Given the description of an element on the screen output the (x, y) to click on. 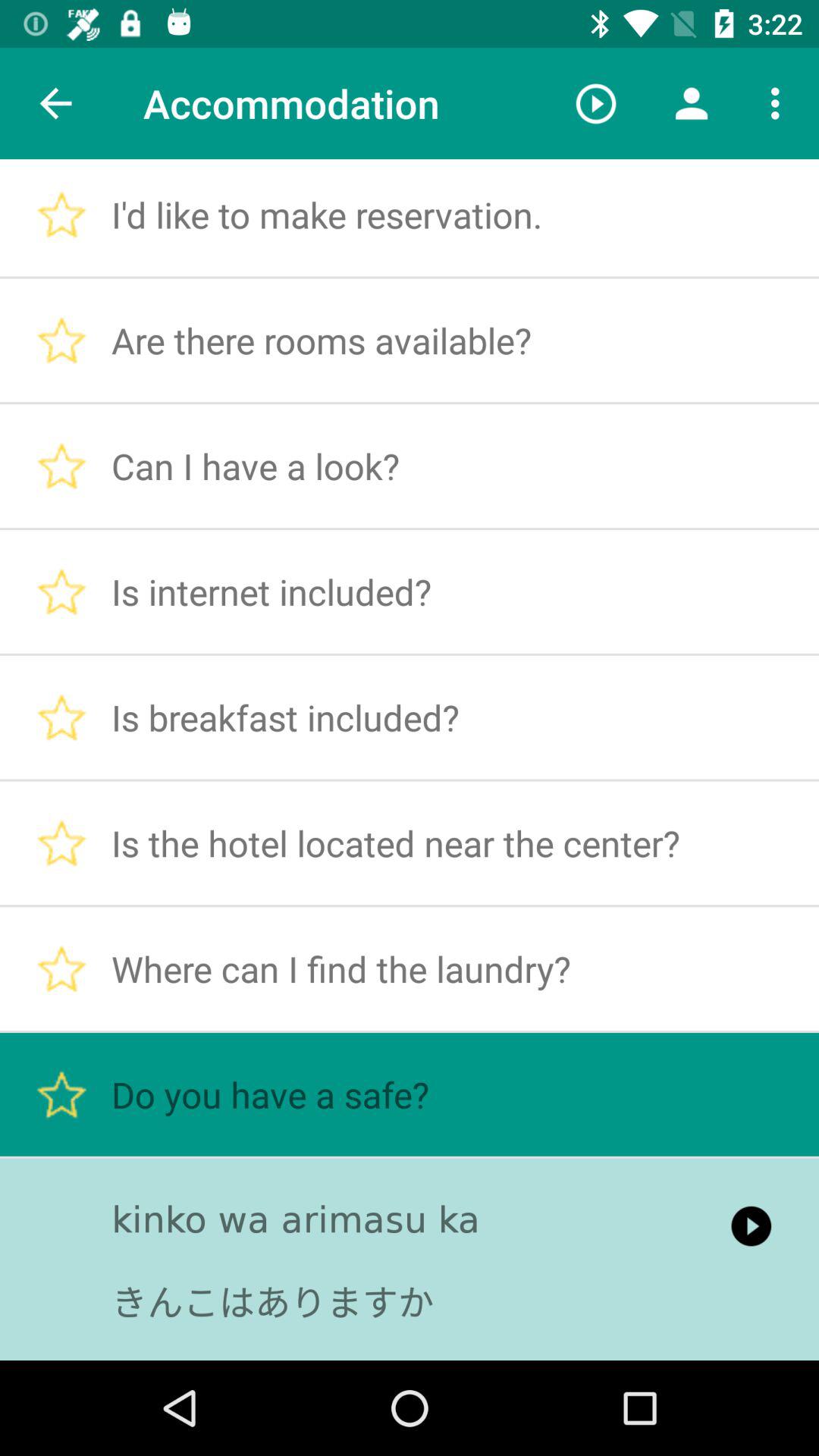
select item next to the kinko wa arimasu (751, 1226)
